Given the description of an element on the screen output the (x, y) to click on. 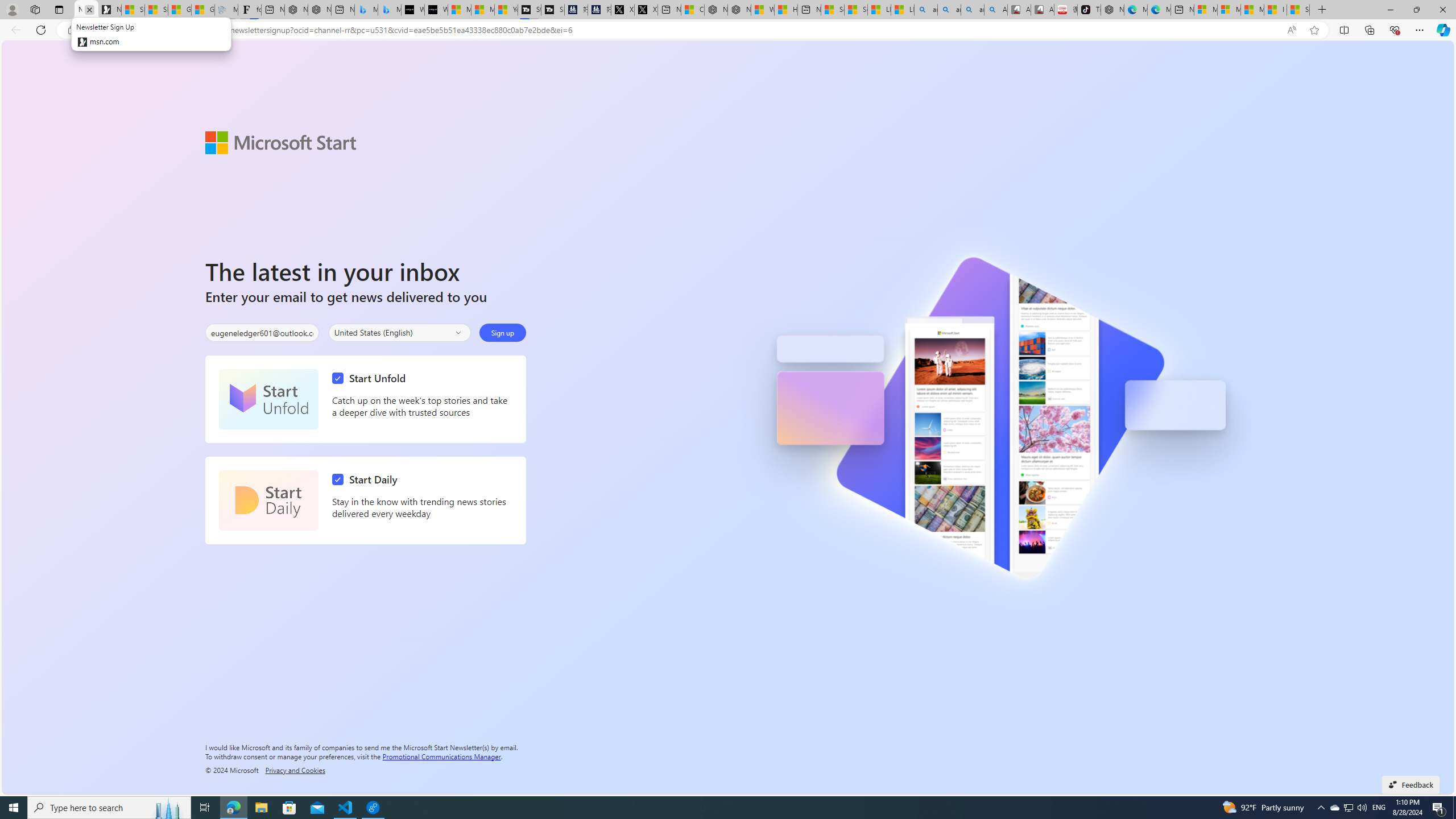
Amazon Echo Robot - Search Images (995, 9)
Select your country (398, 332)
